Given the description of an element on the screen output the (x, y) to click on. 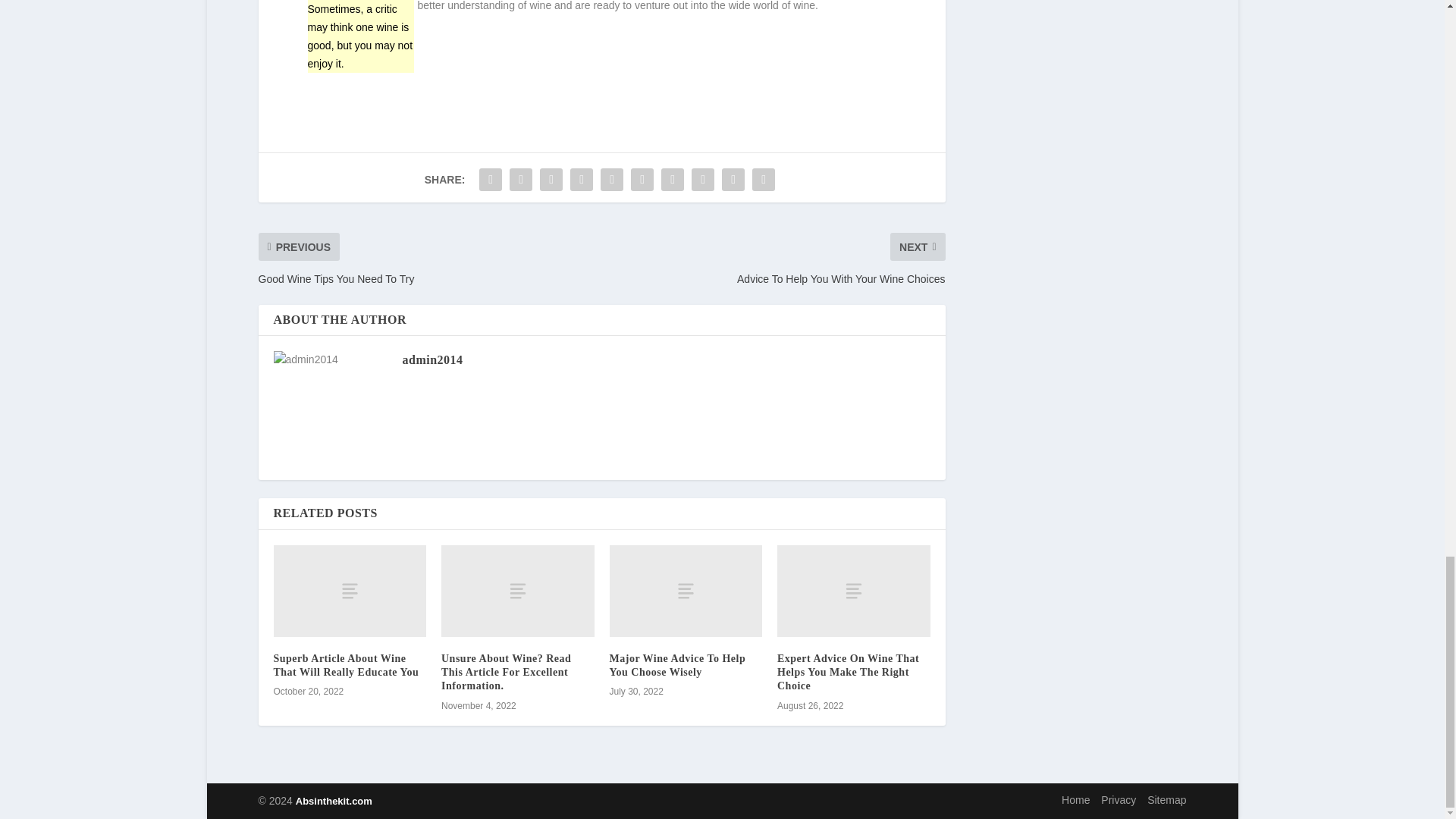
View all posts by admin2014 (432, 359)
Major Wine Advice To Help You Choose Wisely (686, 591)
Superb Article About Wine That Will Really Educate You (349, 591)
Expert Advice On Wine That Helps You Make The Right Choice (847, 671)
